Given the description of an element on the screen output the (x, y) to click on. 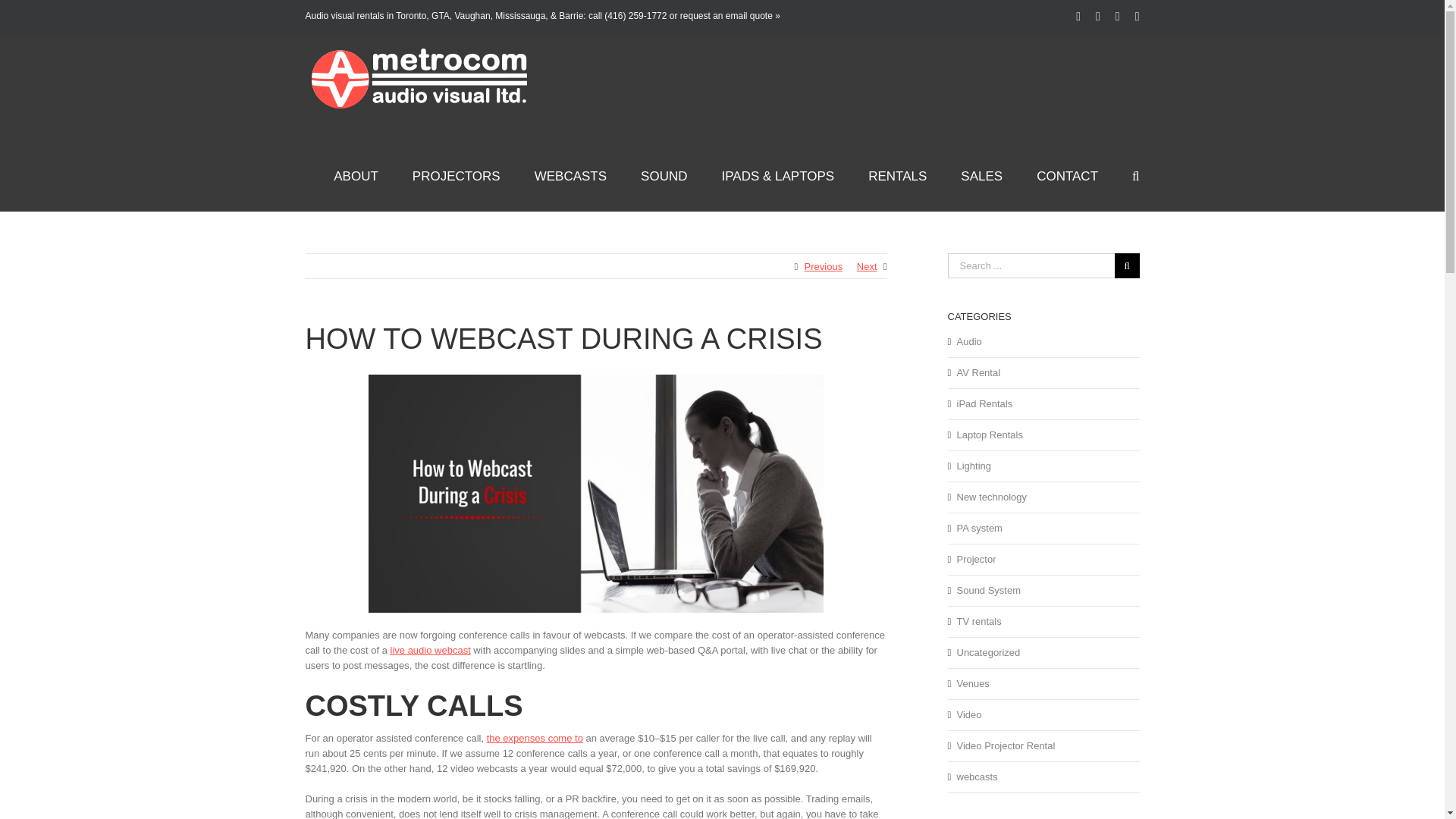
PROJECTORS (456, 175)
request an email quote (726, 15)
WEBCASTS (570, 175)
